Given the description of an element on the screen output the (x, y) to click on. 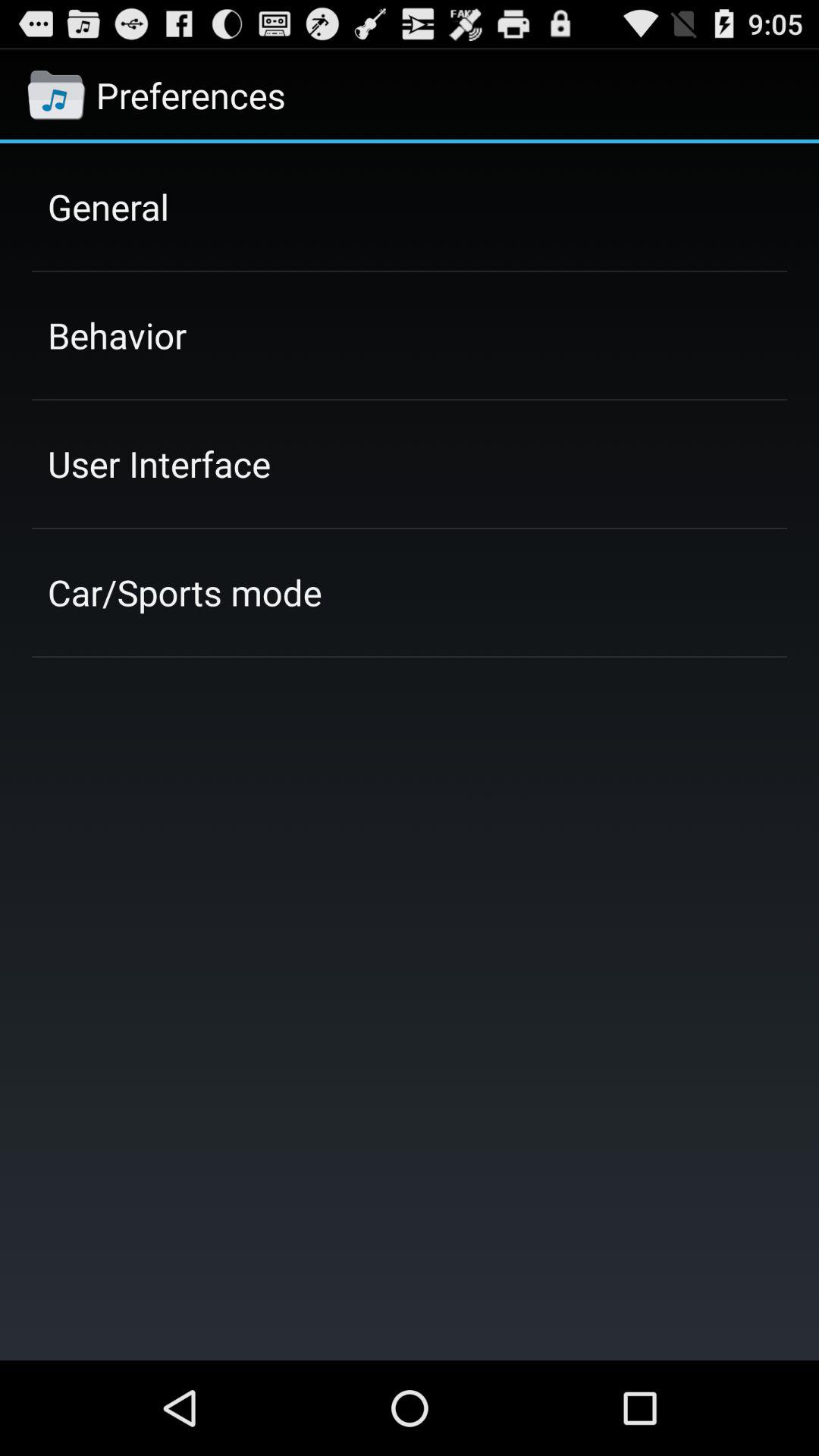
open app above the user interface icon (116, 335)
